Given the description of an element on the screen output the (x, y) to click on. 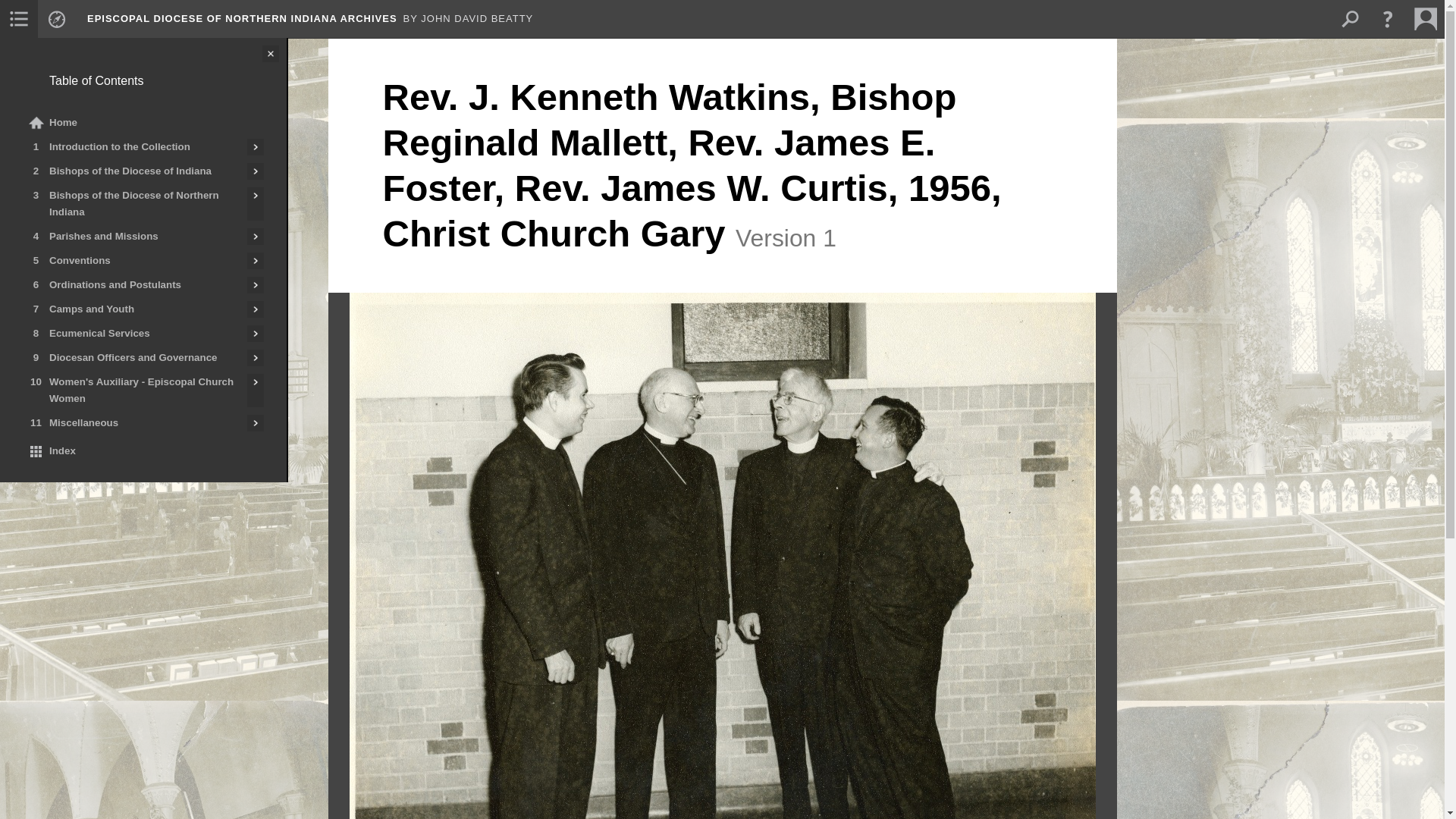
Explore Ordinations and Postulants (255, 284)
Bishops of the Diocese of Indiana (133, 170)
Diocesan Officers and Governance (133, 357)
Ordinations and Postulants (133, 284)
Various ways to explore Scalar (56, 18)
Explore Conventions (255, 260)
Ecumenical Services (133, 333)
Explore Diocesan Officers and Governance (255, 357)
Bishops of the Diocese of Northern Indiana (133, 203)
Explore Bishops of the Diocese of Indiana (255, 170)
Explore Camps and Youth (255, 309)
Home (143, 122)
Explore Parishes and Missions (255, 236)
Explore Introduction to the Collection (255, 146)
Miscellaneous (133, 422)
